Given the description of an element on the screen output the (x, y) to click on. 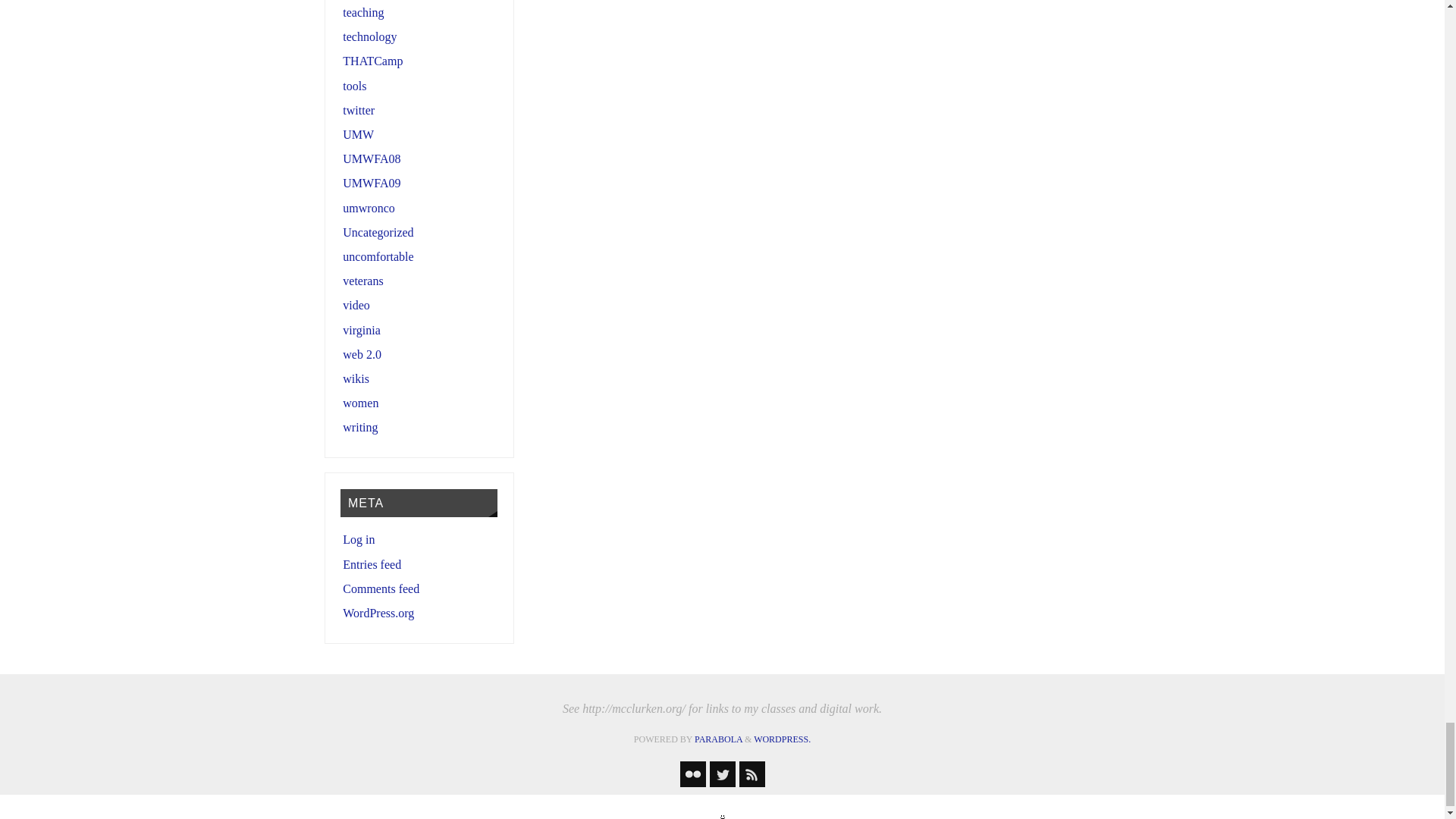
RSS (751, 774)
Semantic Personal Publishing Platform (782, 738)
Twitter (722, 774)
Flickr (691, 774)
Parabola Theme by Cryout Creations (718, 738)
